Given the description of an element on the screen output the (x, y) to click on. 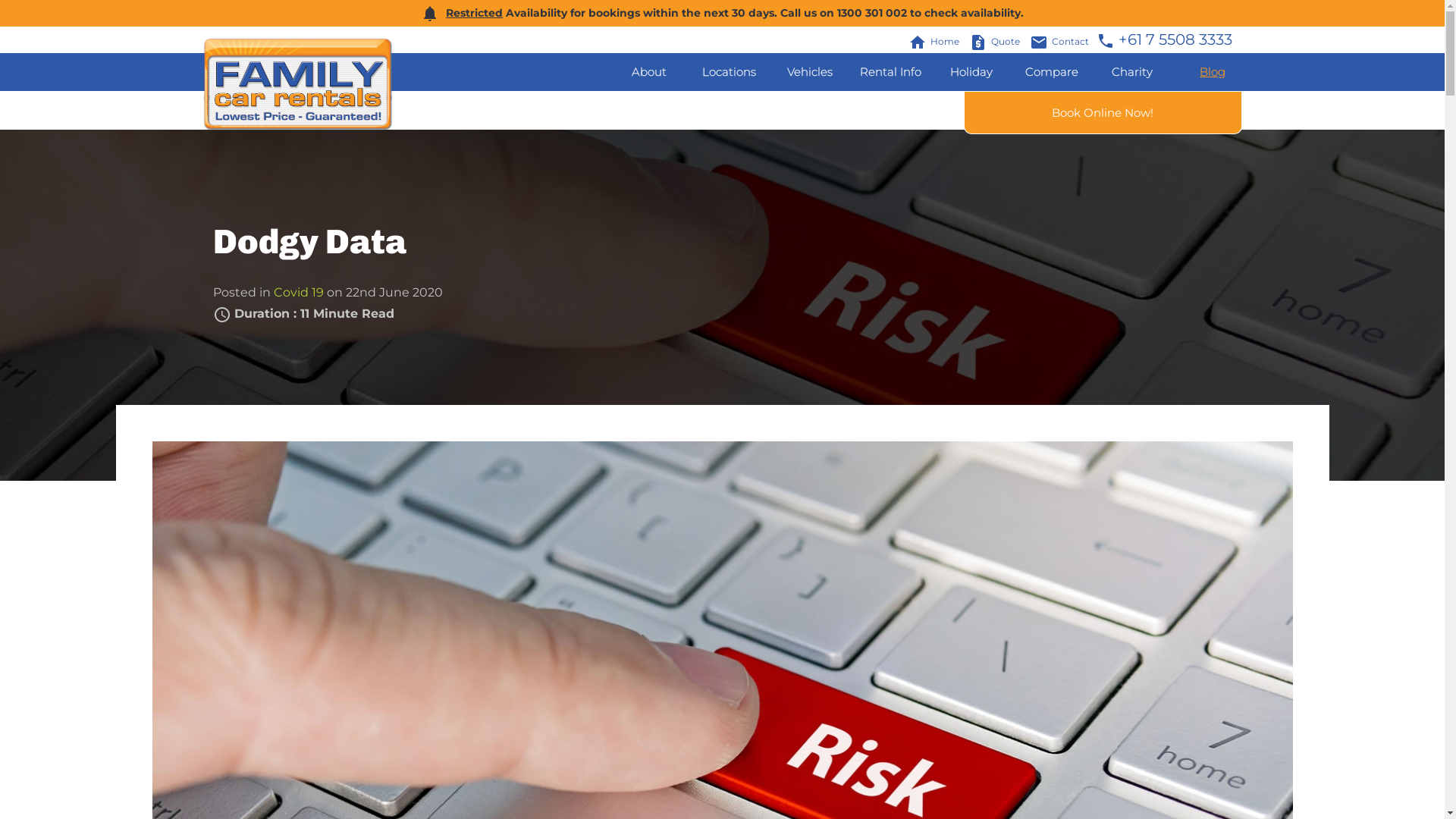
Charity Element type: text (1132, 72)
Vehicles Element type: text (809, 72)
request_quoteQuote Element type: text (998, 41)
Holiday Element type: text (971, 72)
Compare Element type: text (1051, 72)
About Element type: text (648, 72)
Blog Element type: text (1212, 72)
homeHome Element type: text (937, 41)
Locations Element type: text (729, 72)
Covid 19 Element type: text (298, 292)
emailContact Element type: text (1062, 41)
Rental Info Element type: text (890, 72)
Book Online Now! Element type: text (1102, 112)
phone+61 7 5508 3333 Element type: text (1164, 39)
